Given the description of an element on the screen output the (x, y) to click on. 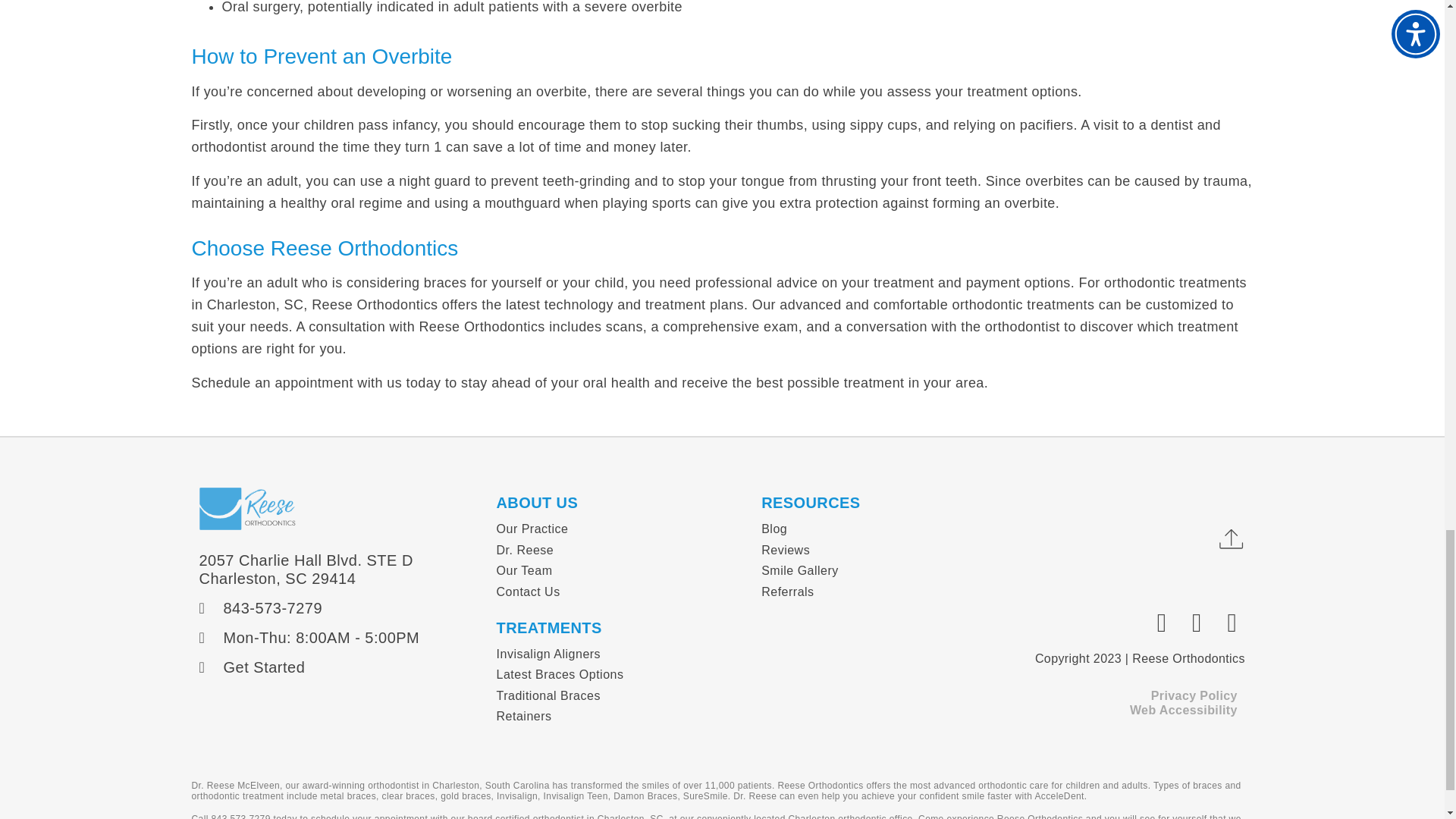
Retainers (621, 716)
Referrals (870, 591)
Web Accessibility (1183, 709)
Latest Braces Options (621, 674)
Dr. Reese (621, 550)
Smile Gallery (870, 570)
Invisalign Aligners (621, 654)
Traditional Braces (621, 695)
Get Started (339, 667)
Privacy Policy (1194, 695)
Our Practice (621, 528)
Contact Us (621, 591)
Our Team (621, 570)
Blog (870, 528)
843-573-7279 (339, 607)
